Given the description of an element on the screen output the (x, y) to click on. 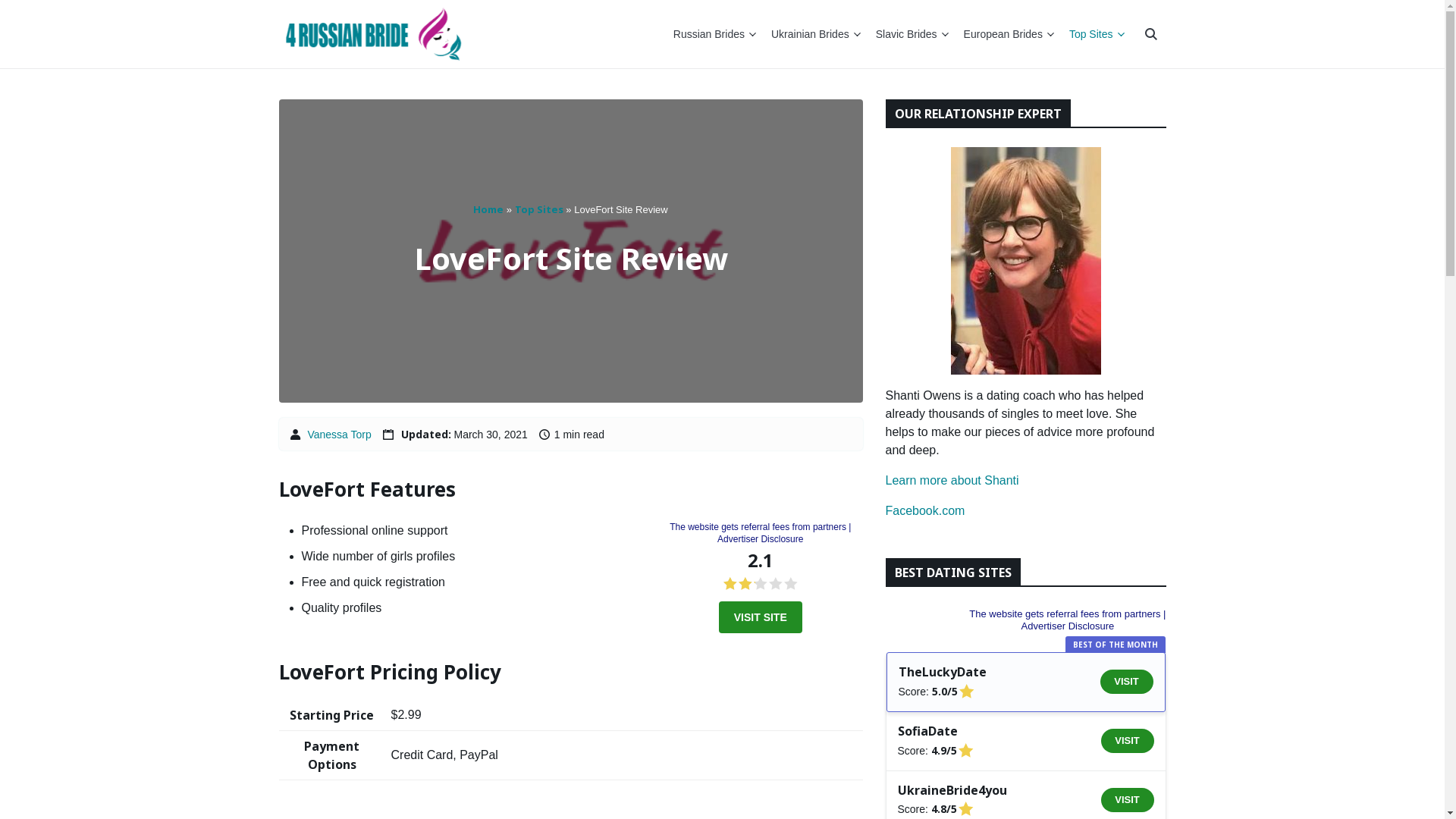
Learn more about Shanti Element type: text (952, 479)
VISIT SITE Element type: text (760, 617)
Our Score Element type: hover (760, 583)
European Brides Element type: text (1008, 33)
VISIT Element type: text (1125, 681)
4 Russian Bride Element type: hover (372, 33)
VISIT Element type: text (1127, 799)
Top Sites Element type: text (538, 209)
VISIT Element type: text (1127, 740)
Home Element type: text (488, 209)
Slavic Brides Element type: text (911, 33)
Facebook.com Element type: text (925, 510)
Vanessa Torp Element type: text (338, 434)
Russian Brides Element type: text (714, 33)
Top Sites Element type: text (1096, 33)
Ukrainian Brides Element type: text (815, 33)
